Given the description of an element on the screen output the (x, y) to click on. 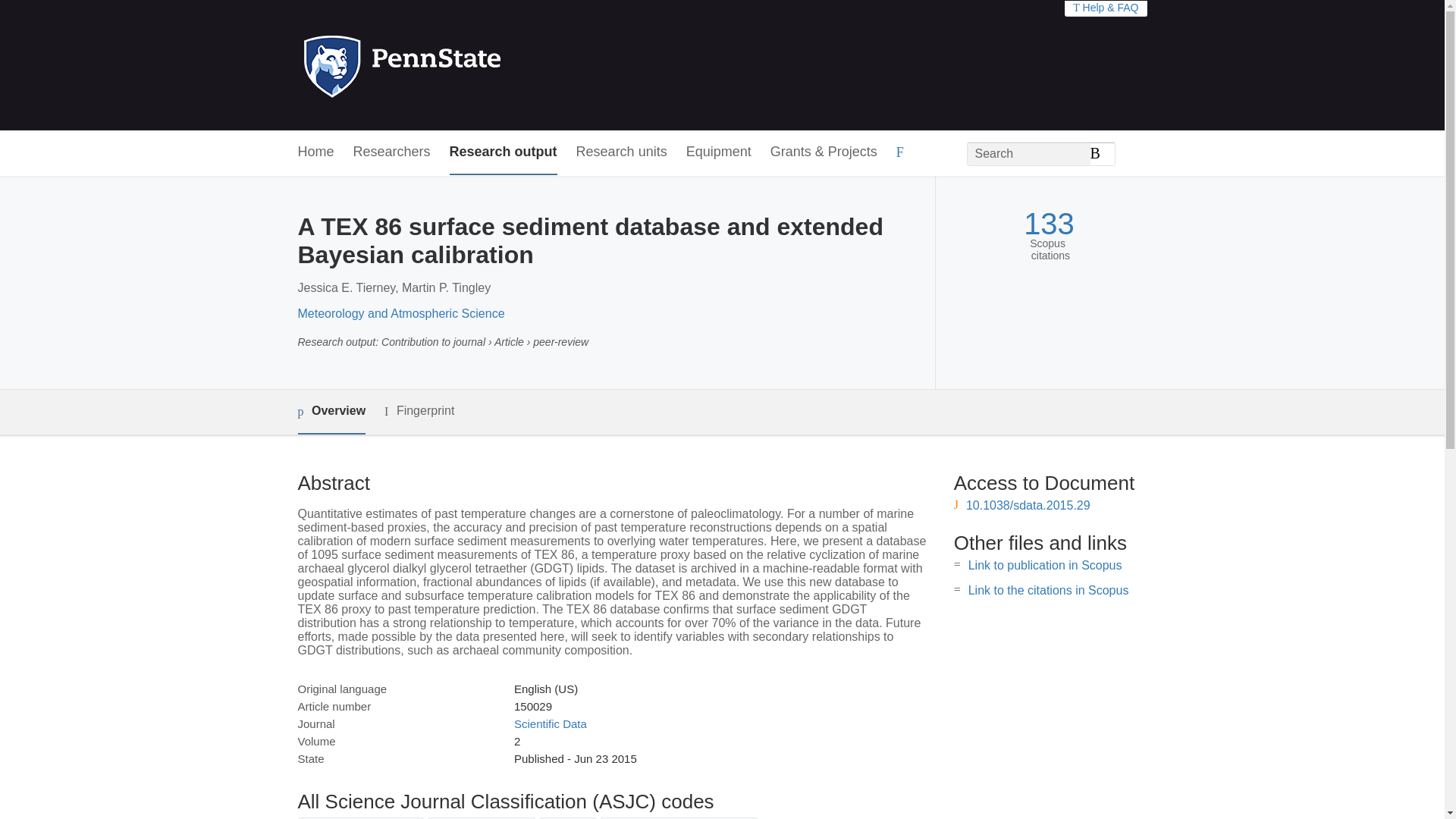
Research units (621, 152)
Research output (503, 152)
Link to the citations in Scopus (1048, 590)
Fingerprint (419, 411)
Link to publication in Scopus (1045, 564)
Scientific Data (549, 723)
Penn State Home (467, 65)
Researchers (391, 152)
Overview (331, 411)
